Given the description of an element on the screen output the (x, y) to click on. 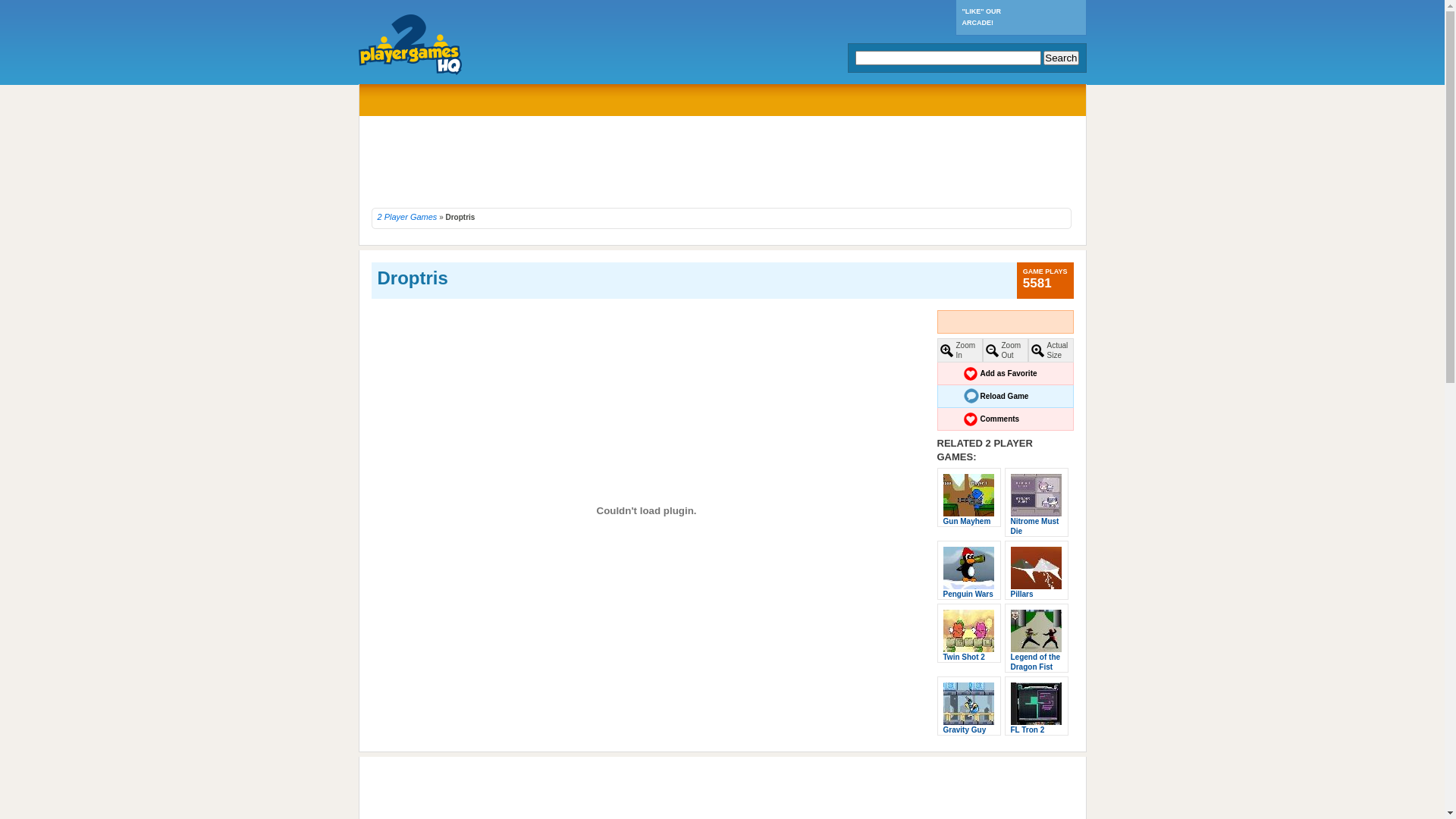
FL Tron 2 Element type: text (1027, 729)
FL Tron 2 Element type: hover (1035, 703)
Pillars Element type: hover (1035, 567)
Gravity Guy Element type: hover (968, 703)
Actual Size Element type: text (1050, 349)
Twin Shot 2 Element type: hover (968, 630)
Comments Element type: text (1005, 418)
Search Element type: text (1060, 57)
Zoom Out Element type: text (1005, 349)
Twin Shot 2 Element type: text (964, 656)
Legend of the Dragon Fist Element type: text (1035, 661)
Advertisement Element type: hover (721, 162)
Gun Mayhem Element type: hover (968, 494)
Nitrome Must Die Element type: hover (1035, 494)
Gun Mayhem Element type: text (967, 521)
Penguin Wars Element type: hover (968, 567)
Reload Game Element type: text (1005, 396)
Pillars Element type: text (1021, 593)
Add as Favorite Element type: text (1005, 373)
Zoom In Element type: text (959, 349)
2 Player Games Element type: text (407, 216)
2 Player Games Element type: text (547, 47)
Nitrome Must Die Element type: text (1034, 526)
Gravity Guy Element type: text (964, 729)
Penguin Wars Element type: text (968, 593)
Legend of the Dragon Fist Element type: hover (1035, 630)
